Given the description of an element on the screen output the (x, y) to click on. 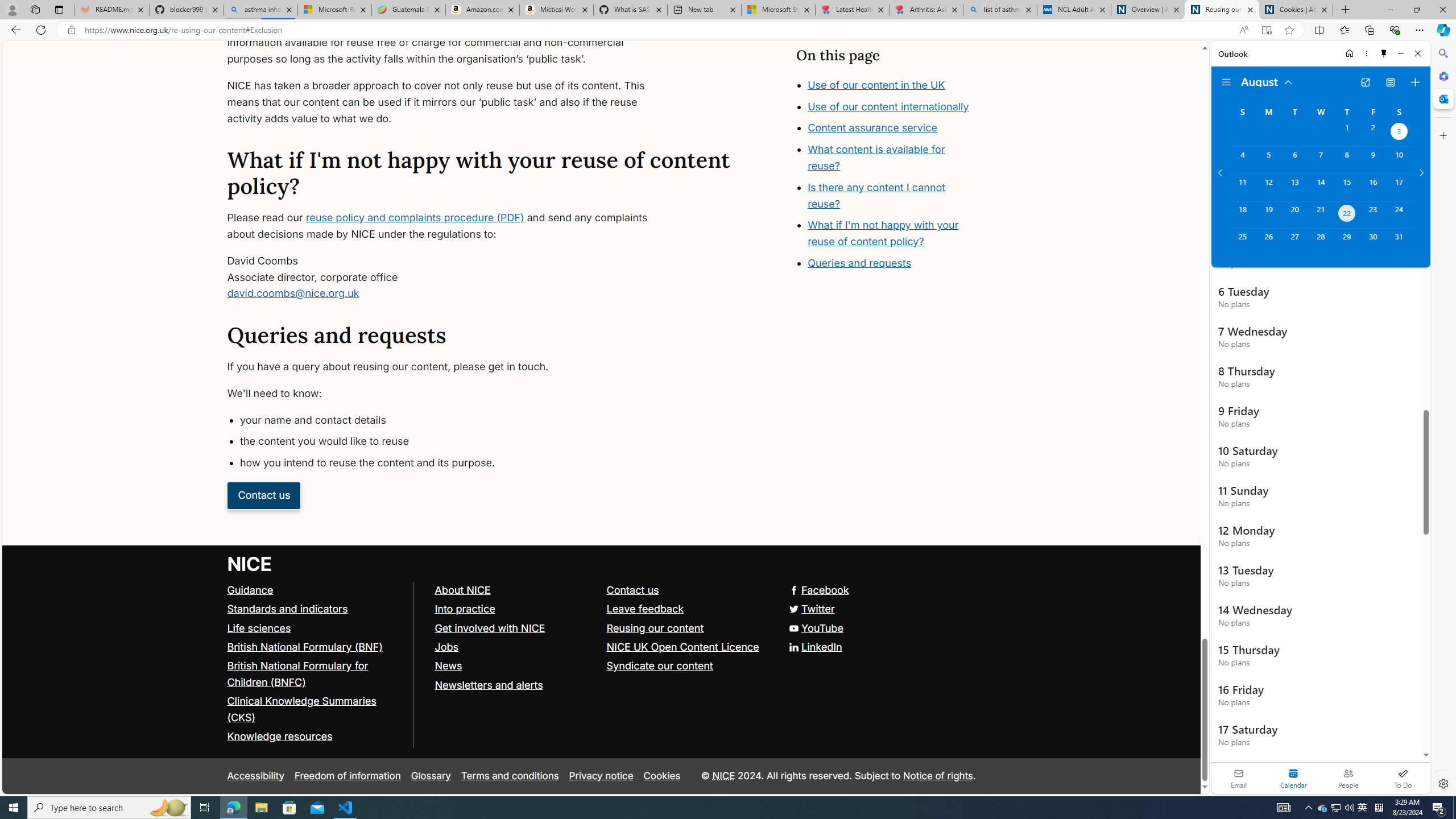
Sunday, August 25, 2024.  (1242, 241)
Newsletters and alerts (488, 684)
Saturday, August 10, 2024.  (1399, 159)
Freedom of information (347, 775)
Accessibility (255, 775)
Friday, August 30, 2024.  (1372, 241)
Wednesday, August 14, 2024.  (1320, 186)
Use of our content internationally (888, 106)
Guidance (250, 589)
About NICE (461, 589)
Tuesday, August 13, 2024.  (1294, 186)
Knowledge resources (315, 736)
